Given the description of an element on the screen output the (x, y) to click on. 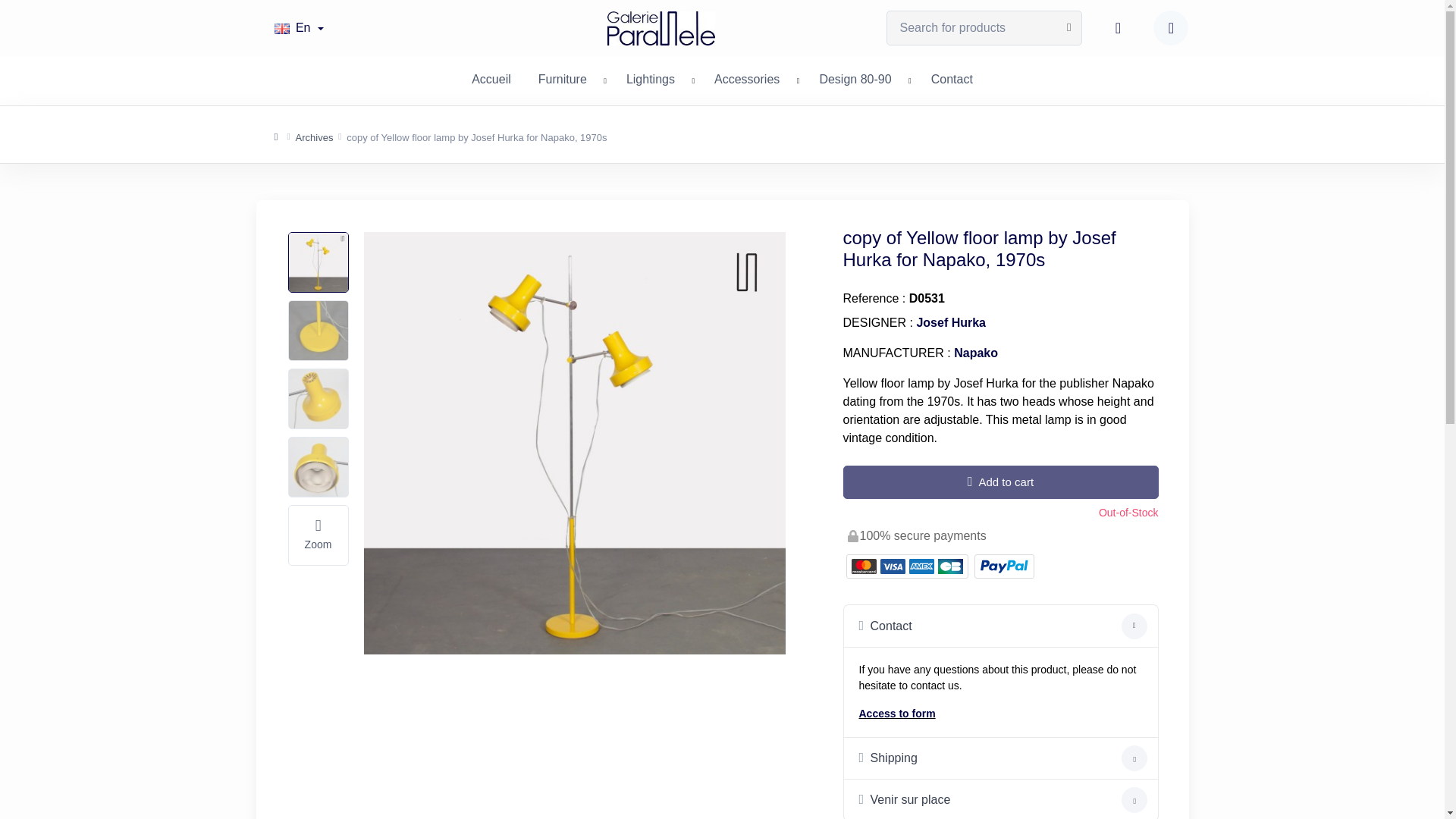
En (299, 27)
Lightings (650, 77)
Furniture (561, 77)
Accueil (491, 77)
Accessories (746, 77)
